Given the description of an element on the screen output the (x, y) to click on. 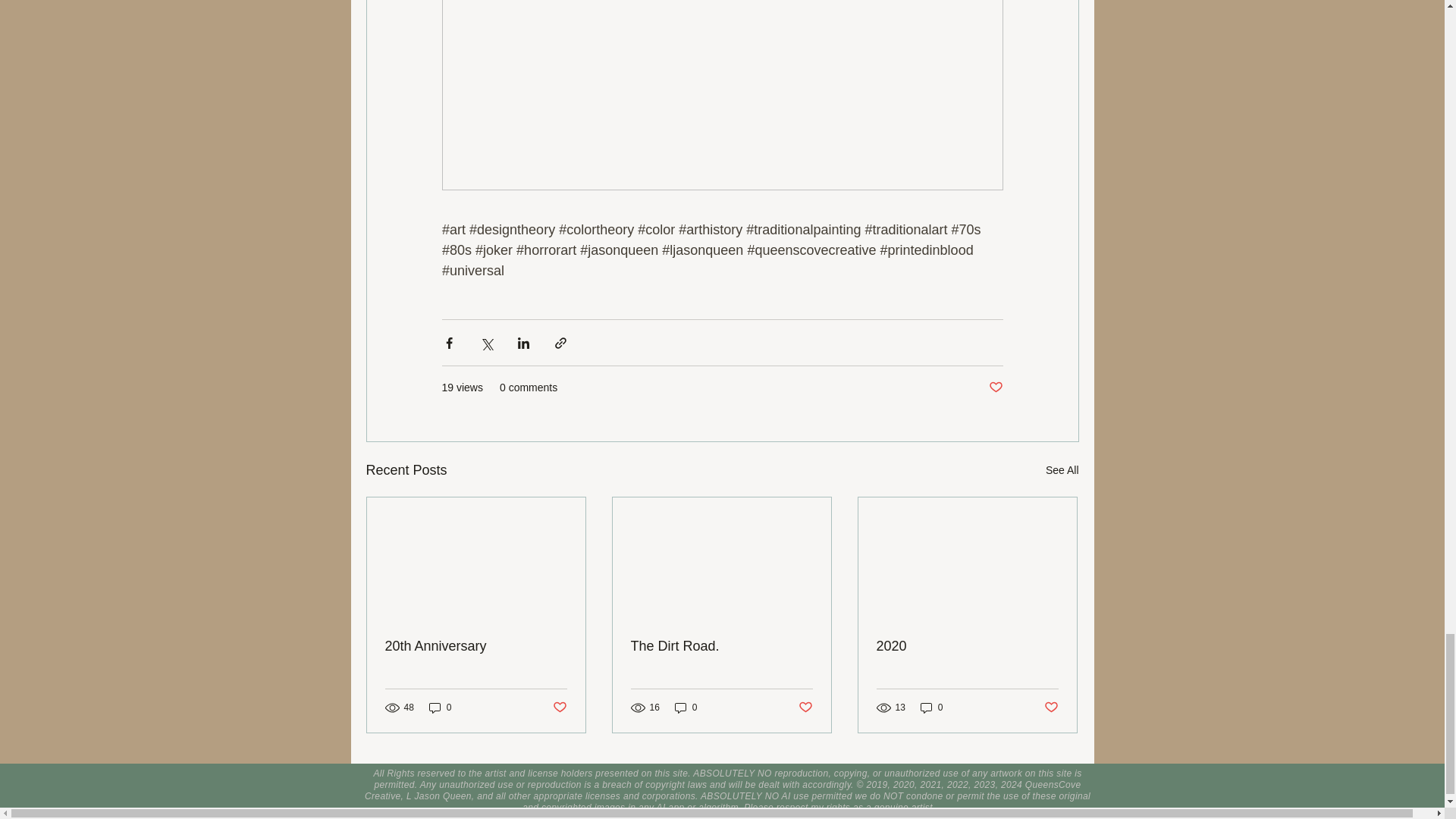
See All (1061, 470)
Post not marked as liked (995, 387)
